Given the description of an element on the screen output the (x, y) to click on. 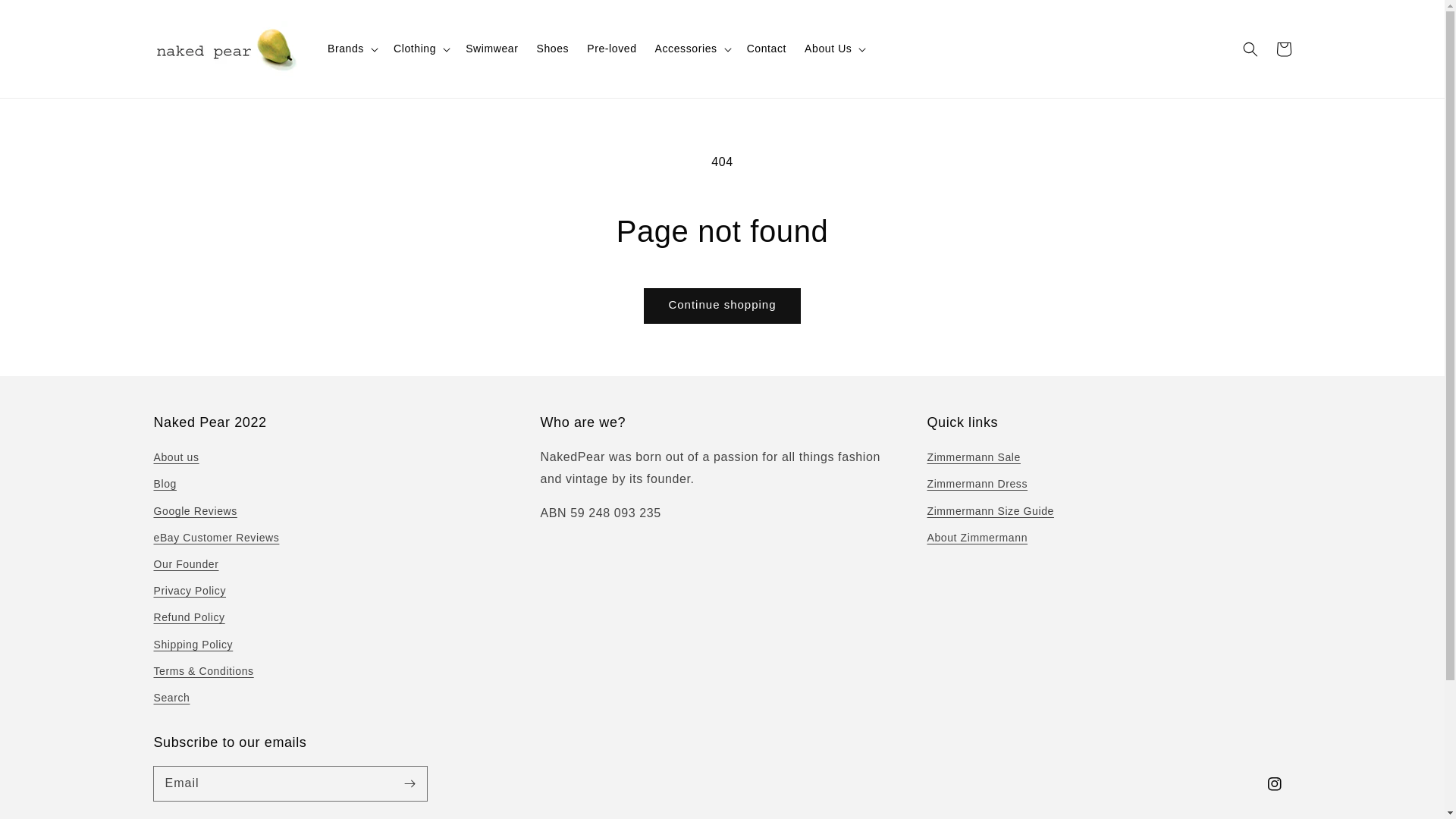
Skip to content (45, 16)
